Given the description of an element on the screen output the (x, y) to click on. 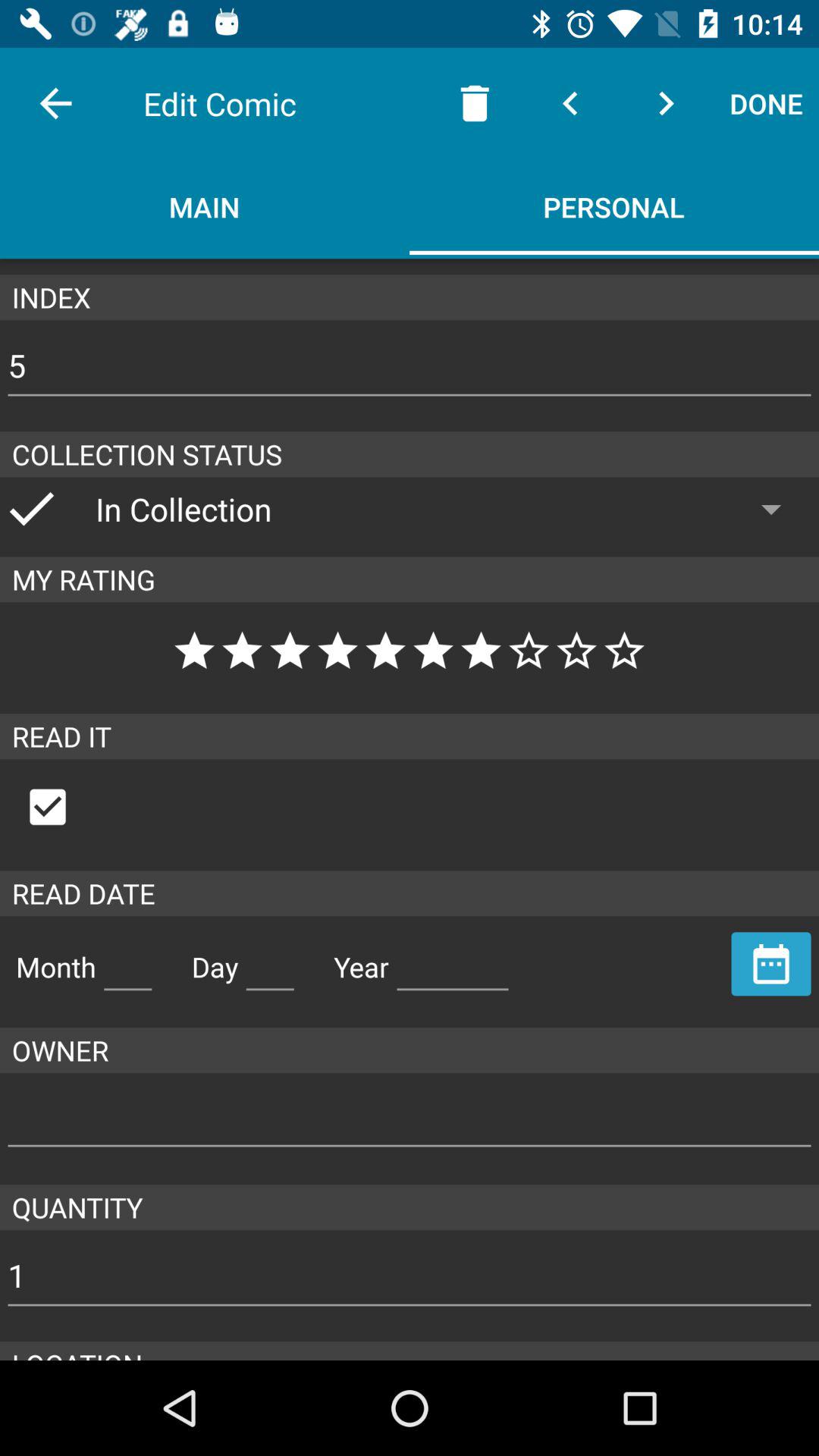
read day mentioned (270, 961)
